Given the description of an element on the screen output the (x, y) to click on. 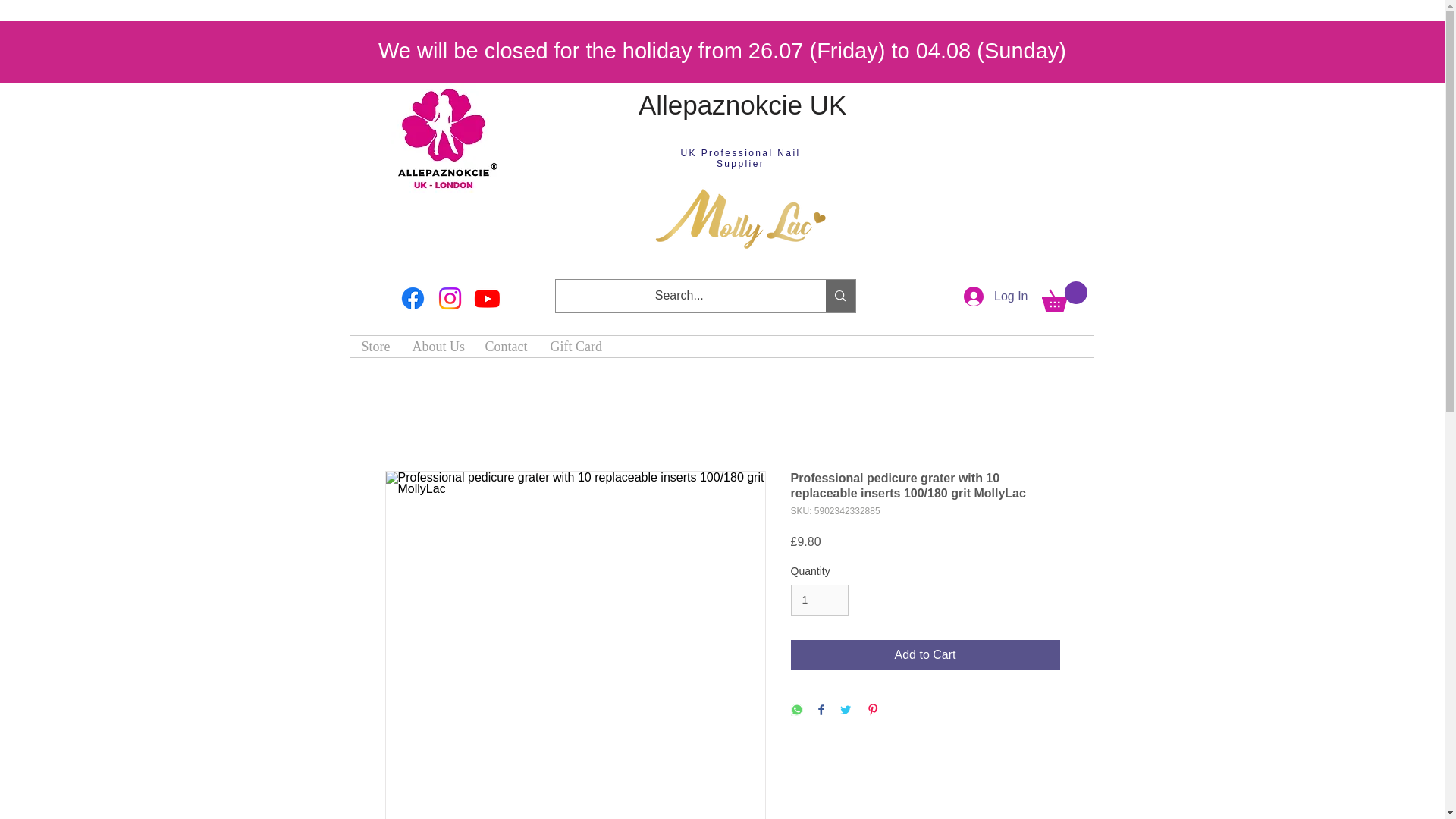
1 (818, 599)
Store (375, 346)
Contact (505, 346)
Log In (995, 296)
Allepaznokcie UK  (746, 105)
About Us (436, 346)
Gift Card (574, 346)
Add to Cart (924, 654)
